Given the description of an element on the screen output the (x, y) to click on. 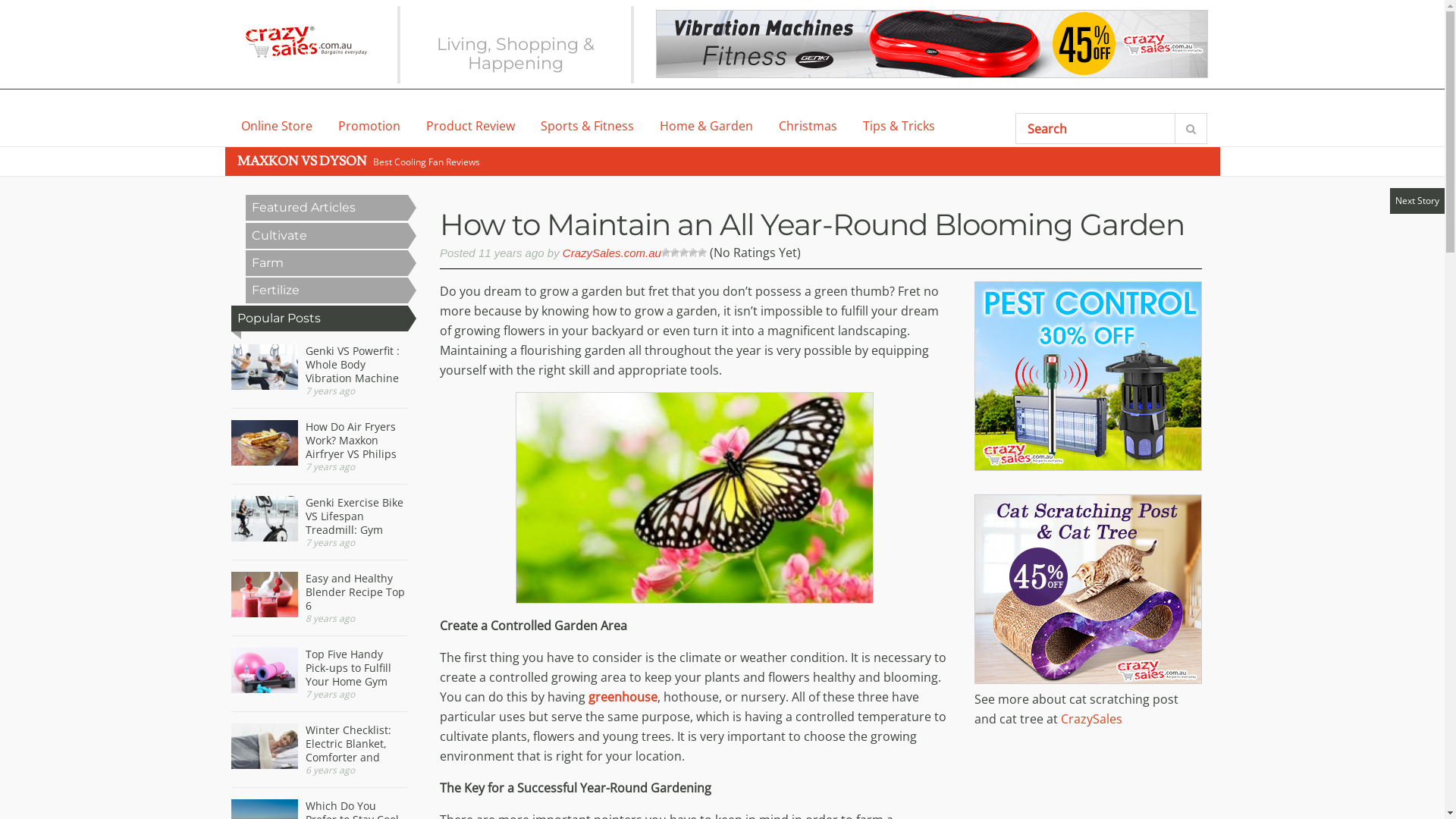
Cultivate Element type: text (326, 235)
Farm Element type: text (326, 263)
Product Review Element type: text (470, 126)
MAXKON VS DYSON Best Cooling Fan Reviews Element type: text (359, 161)
Easy and Healthy Blender Recipe Top 6 Element type: text (318, 591)
Easy and Healthy Blender Recipe Top 6 Element type: hover (263, 604)
2 Stars Element type: hover (674, 252)
Tips & Tricks Element type: text (898, 126)
Vibration Machines Australia for Sale - Crazysales.com.au Element type: hover (931, 43)
Living, Shopping & Happening Element type: text (515, 53)
CrazySales Element type: hover (304, 42)
CrazySales.com.au Element type: text (611, 252)
Christmas Element type: text (807, 126)
Cat Scratching Post & Cat Tree - Crazysales.com.au Element type: hover (1087, 679)
Top Five Handy Pick-ups to Fulfill Your Home Gym Element type: hover (263, 672)
3 Stars Element type: hover (683, 252)
Promotion Element type: text (369, 126)
greenhouse Element type: text (622, 696)
Online Store Element type: text (276, 126)
Featured Articles Element type: text (326, 207)
SEARCH Element type: text (1189, 128)
Home & Garden Element type: text (706, 126)
CrazySales Element type: text (1090, 718)
Top Five Handy Pick-ups to Fulfill Your Home Gym Element type: text (318, 667)
4 Stars Element type: hover (692, 252)
Search for: Element type: hover (1137, 128)
Fertilize Element type: text (326, 290)
Pest Control Online - Crazysales.com.au Element type: hover (1087, 466)
Popular Posts Element type: text (318, 318)
Sports & Fitness Element type: text (587, 126)
1 Star Element type: hover (665, 252)
5 Stars Element type: hover (701, 252)
